Given the description of an element on the screen output the (x, y) to click on. 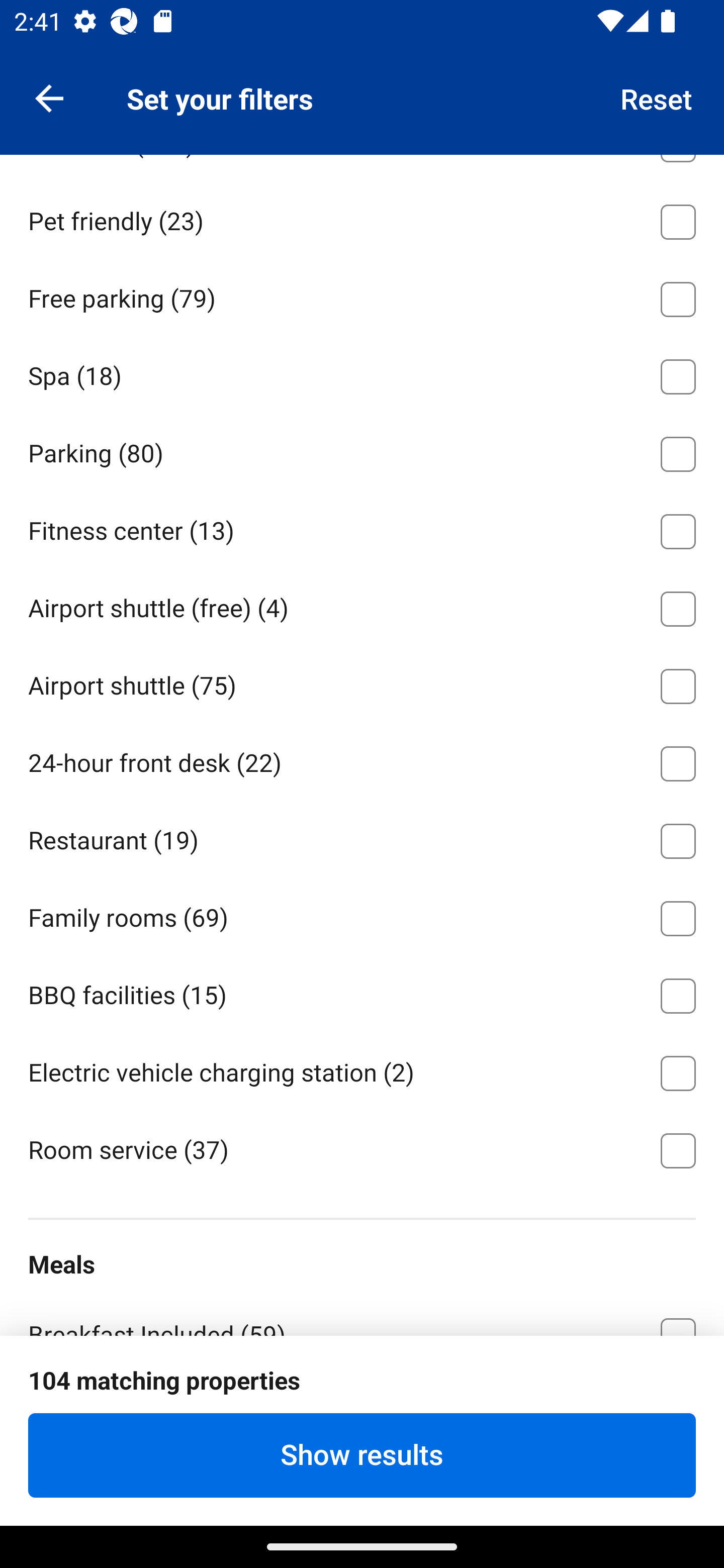
Navigate up (49, 97)
Reset (656, 97)
Pet friendly ⁦(23) (361, 218)
Free parking ⁦(79) (361, 295)
Spa ⁦(18) (361, 372)
Parking ⁦(80) (361, 450)
Fitness center ⁦(13) (361, 528)
Airport shuttle (free) ⁦(4) (361, 605)
Airport shuttle ⁦(75) (361, 682)
24-hour front desk ⁦(22) (361, 760)
Restaurant ⁦(19) (361, 837)
Family rooms ⁦(69) (361, 914)
BBQ facilities ⁦(15) (361, 992)
Electric vehicle charging station ⁦(2) (361, 1069)
Room service ⁦(37) (361, 1149)
Show results (361, 1454)
